Given the description of an element on the screen output the (x, y) to click on. 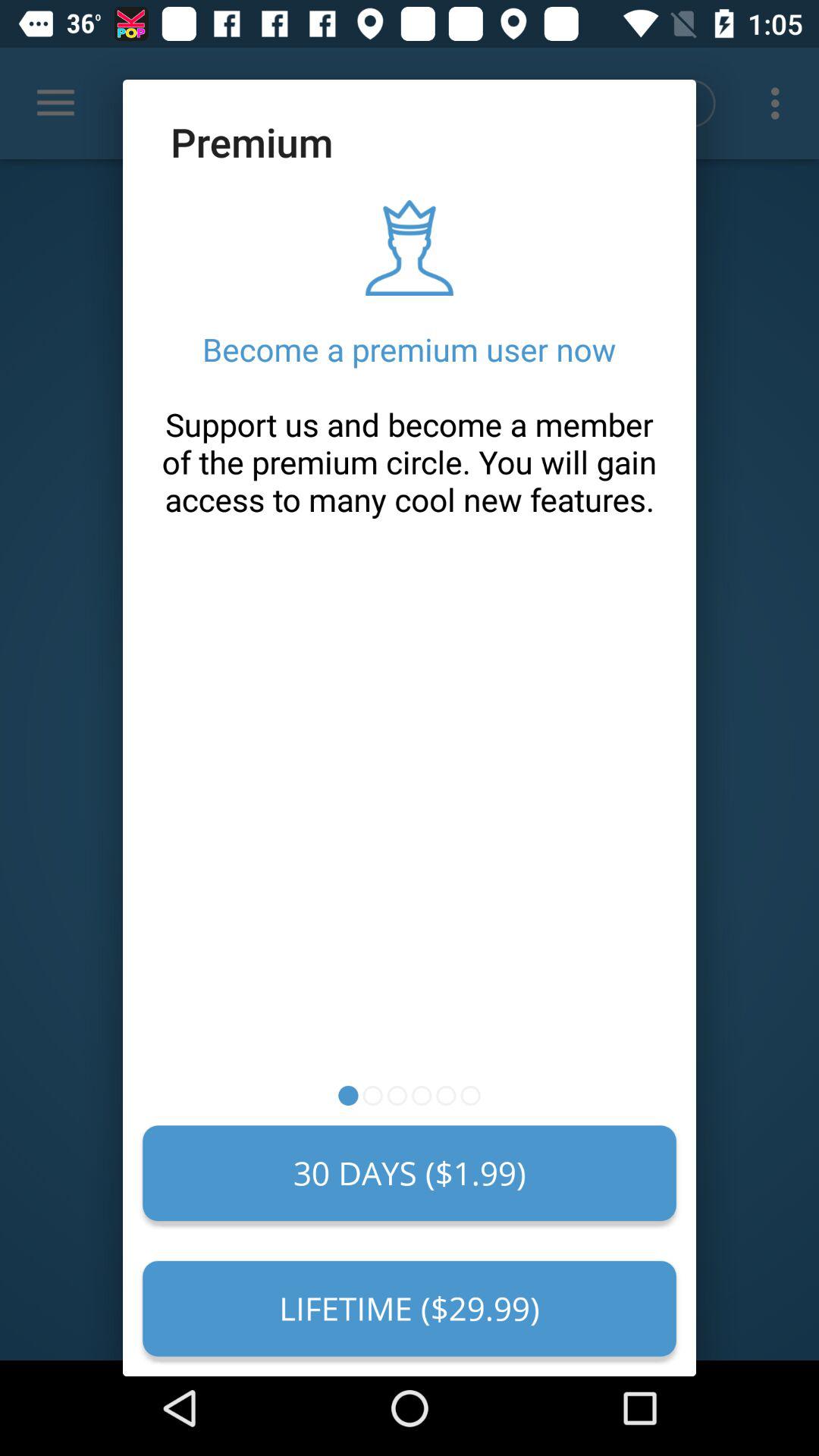
turn off item below 30 days 1 icon (409, 1308)
